Given the description of an element on the screen output the (x, y) to click on. 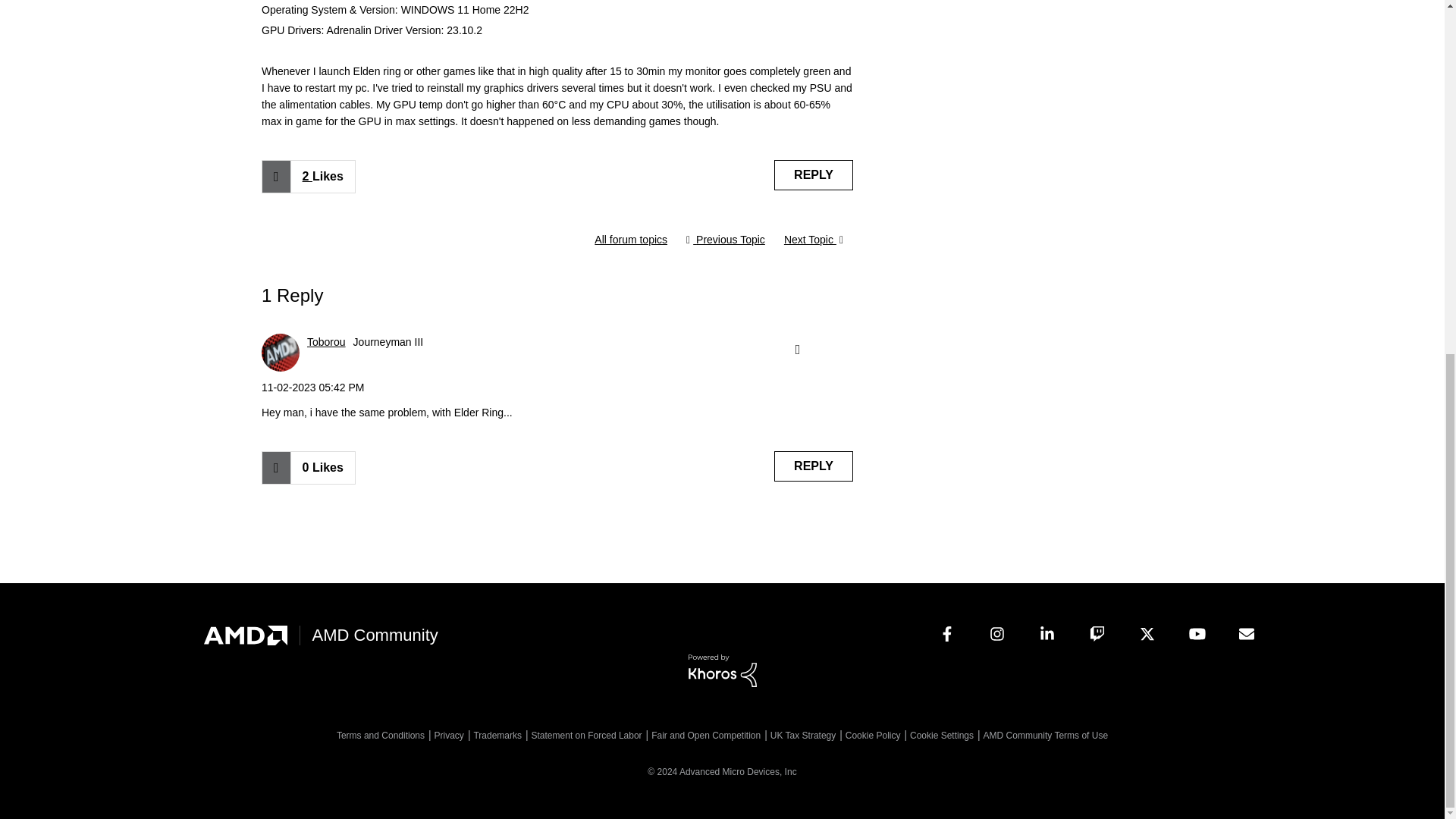
Click here to see who gave likes to this post. (322, 176)
